Given the description of an element on the screen output the (x, y) to click on. 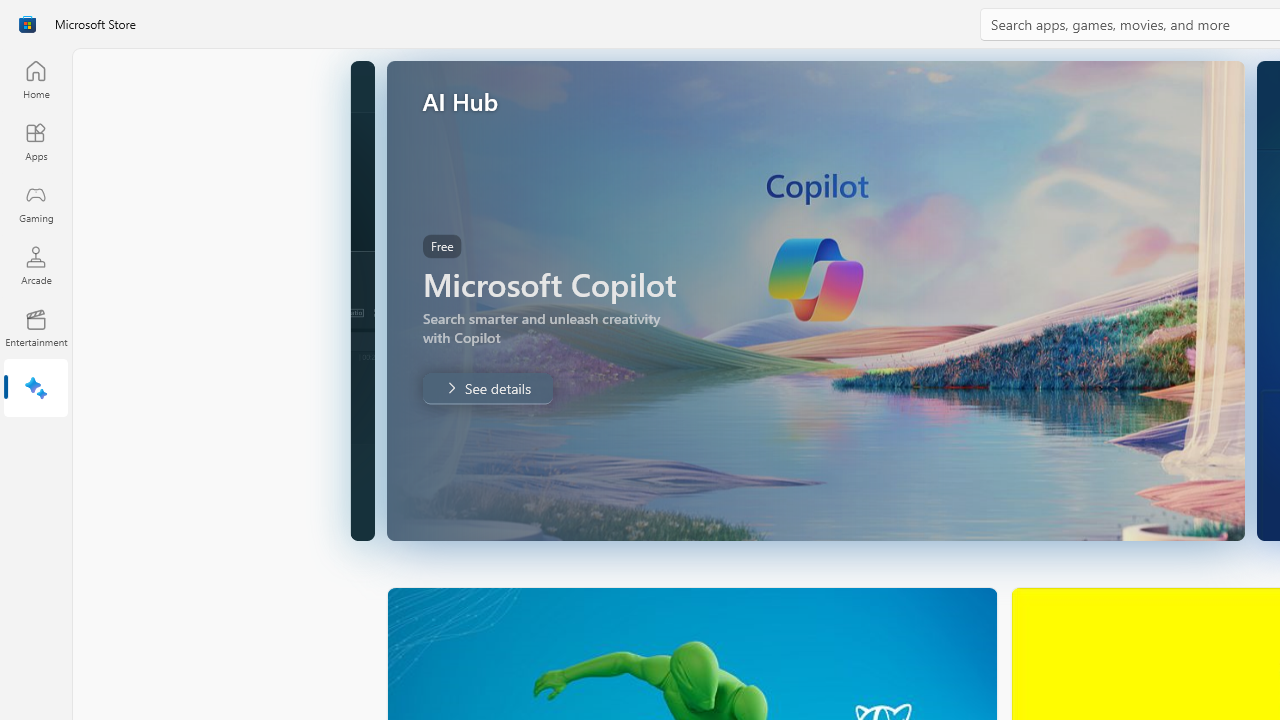
AutomationID: Image (815, 300)
